Given the description of an element on the screen output the (x, y) to click on. 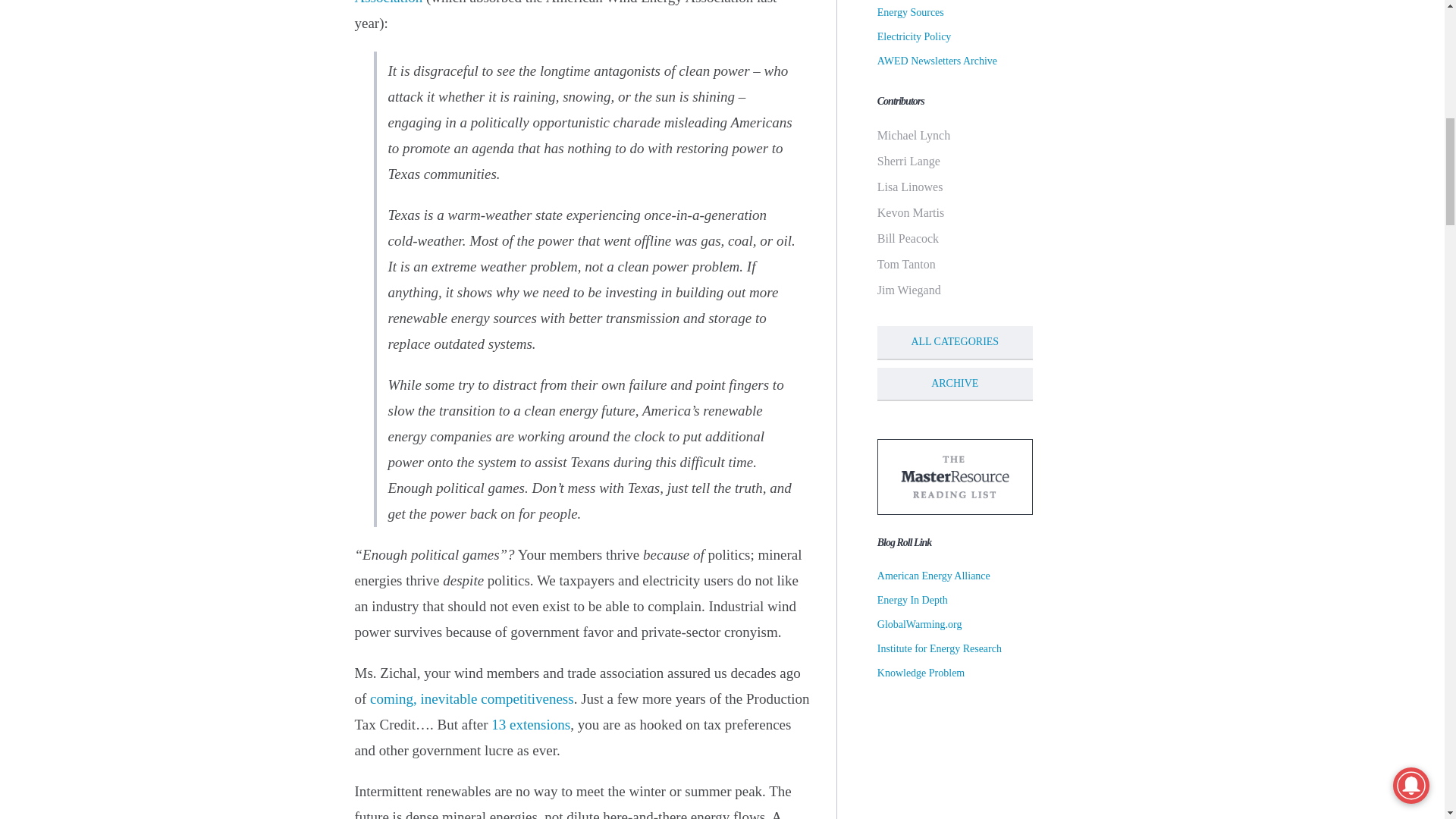
13 extensions (531, 724)
American Clean Power Association (552, 2)
coming, inevitable competitiveness (471, 698)
